Given the description of an element on the screen output the (x, y) to click on. 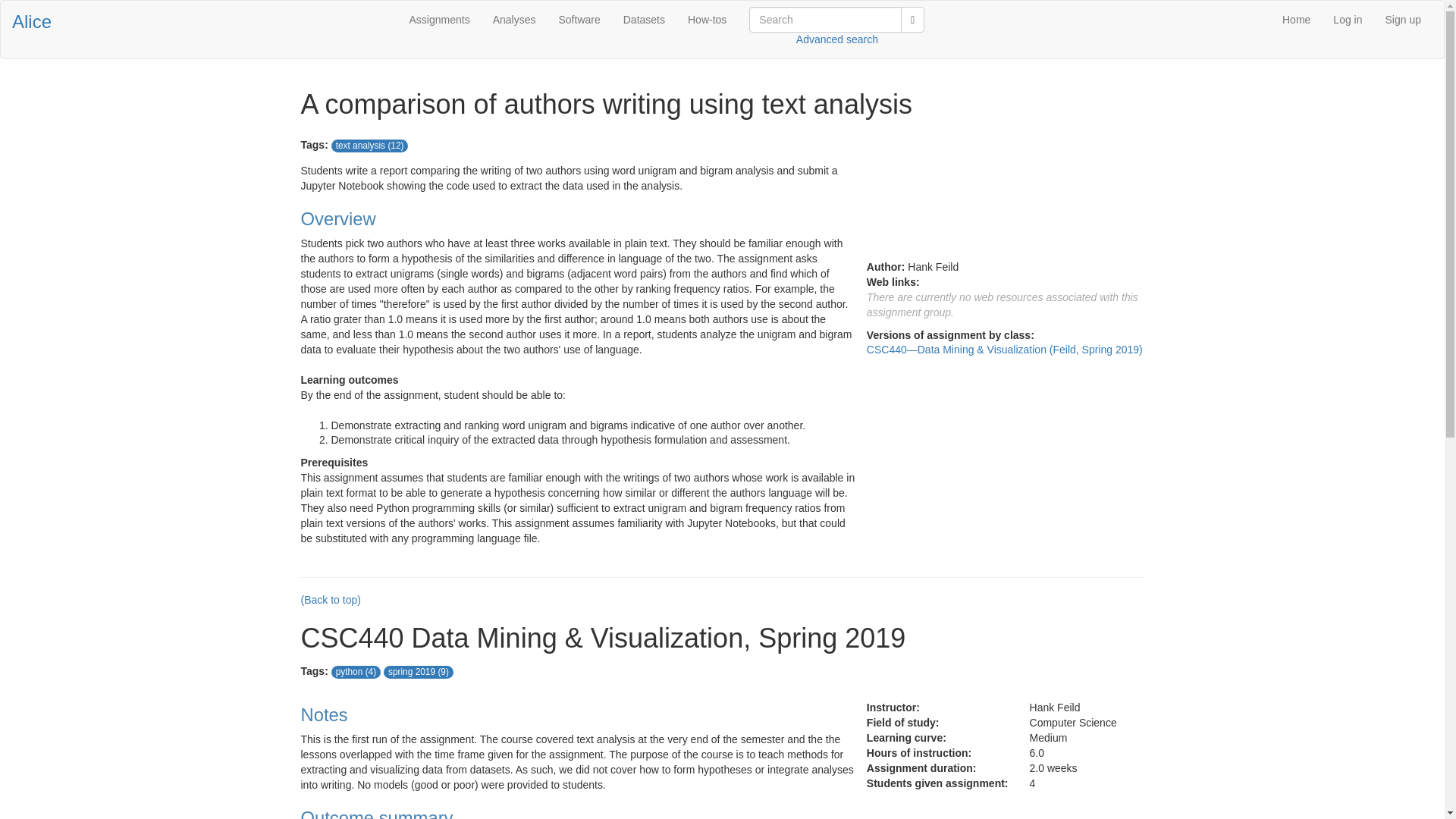
Analyses (514, 19)
Advanced search (836, 39)
Alice (30, 21)
Sign up (1403, 19)
spring 2019 (411, 671)
text analysis (360, 145)
How-tos (707, 19)
Datasets (644, 19)
Log in (1347, 19)
Software (579, 19)
